Given the description of an element on the screen output the (x, y) to click on. 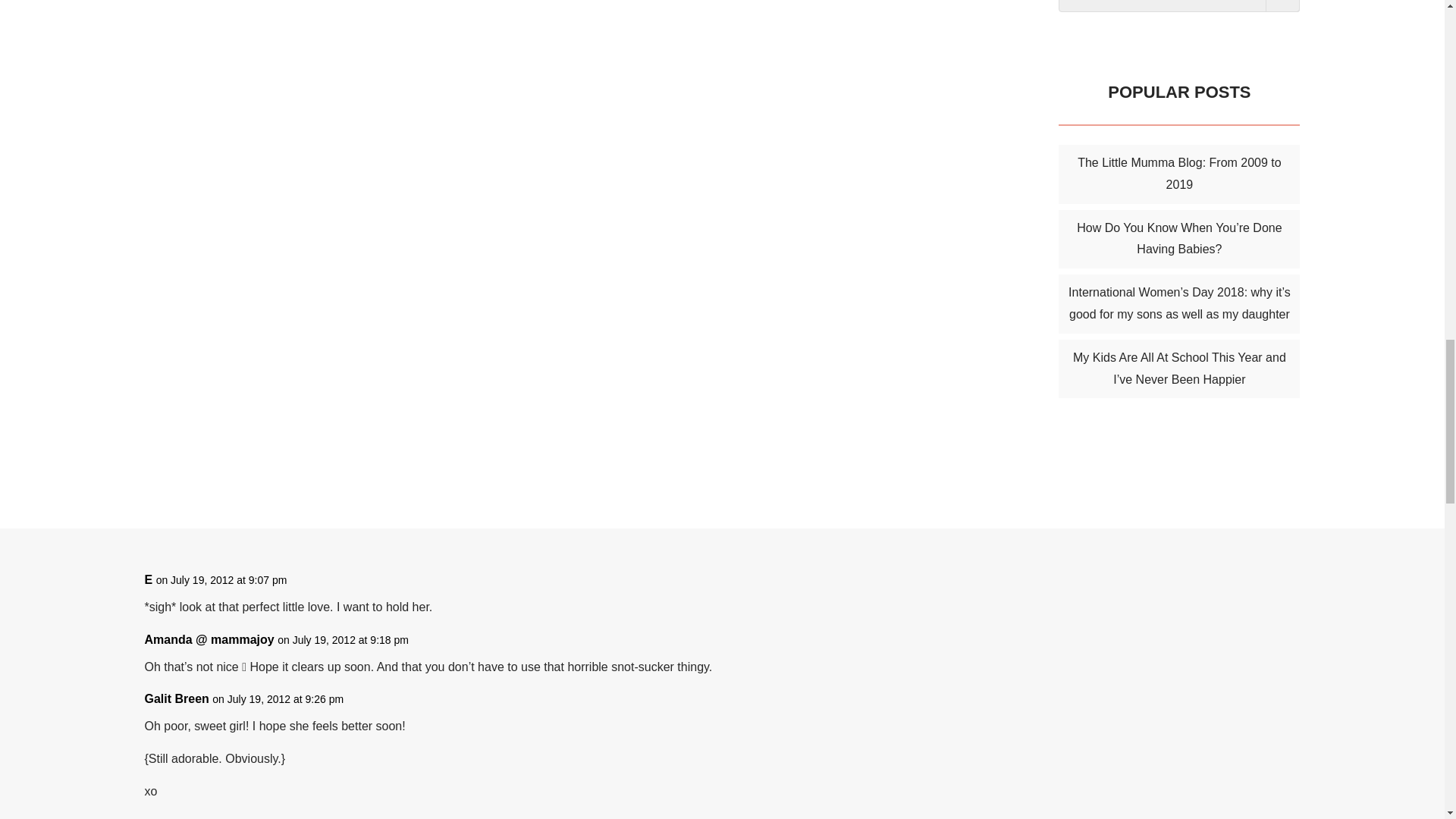
Search (1282, 6)
Search (1282, 6)
Galit Breen (176, 698)
The Little Mumma Blog: From 2009 to 2019 (1179, 173)
